Given the description of an element on the screen output the (x, y) to click on. 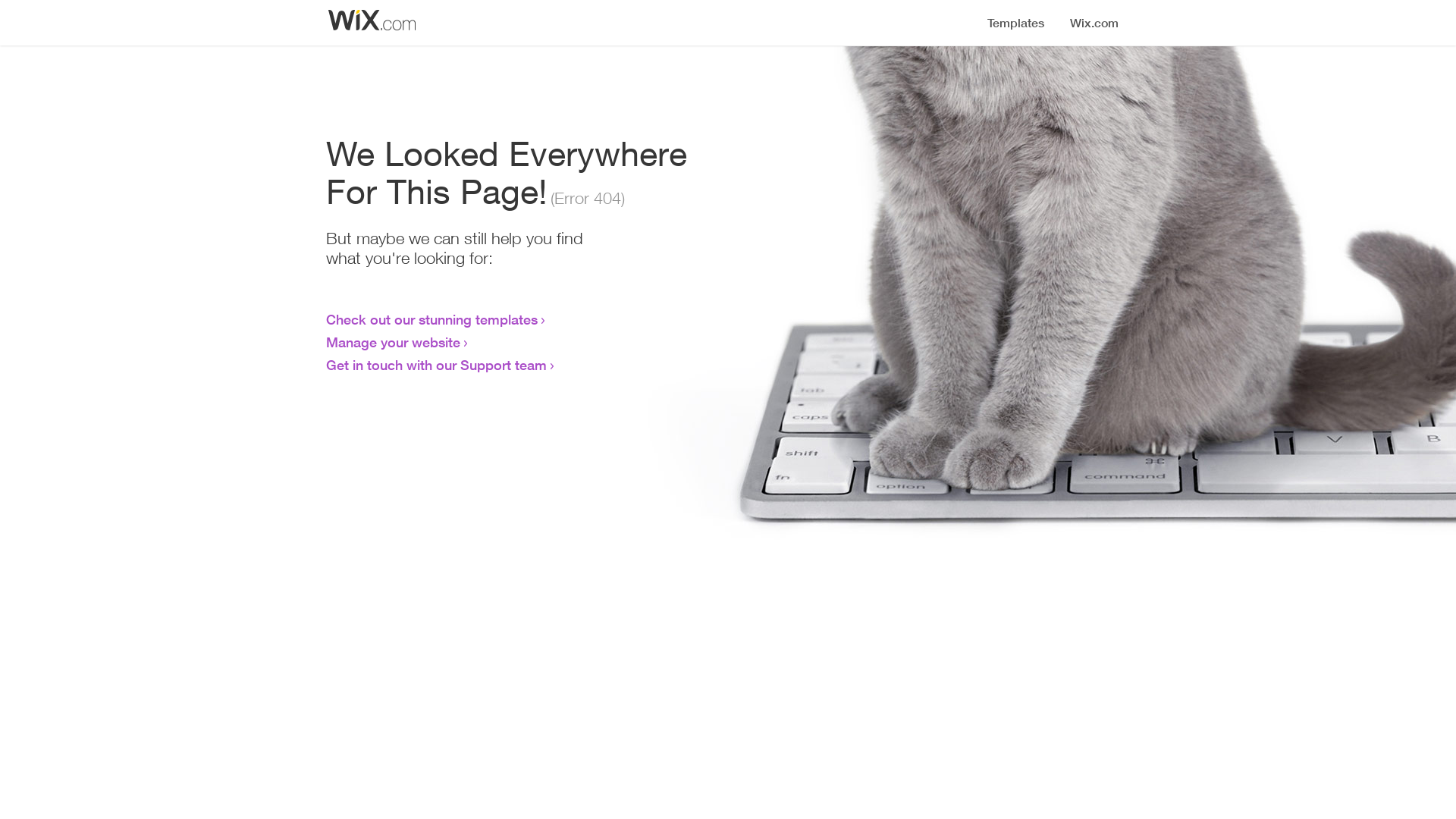
Check out our stunning templates Element type: text (431, 318)
Get in touch with our Support team Element type: text (436, 364)
Manage your website Element type: text (393, 341)
